Given the description of an element on the screen output the (x, y) to click on. 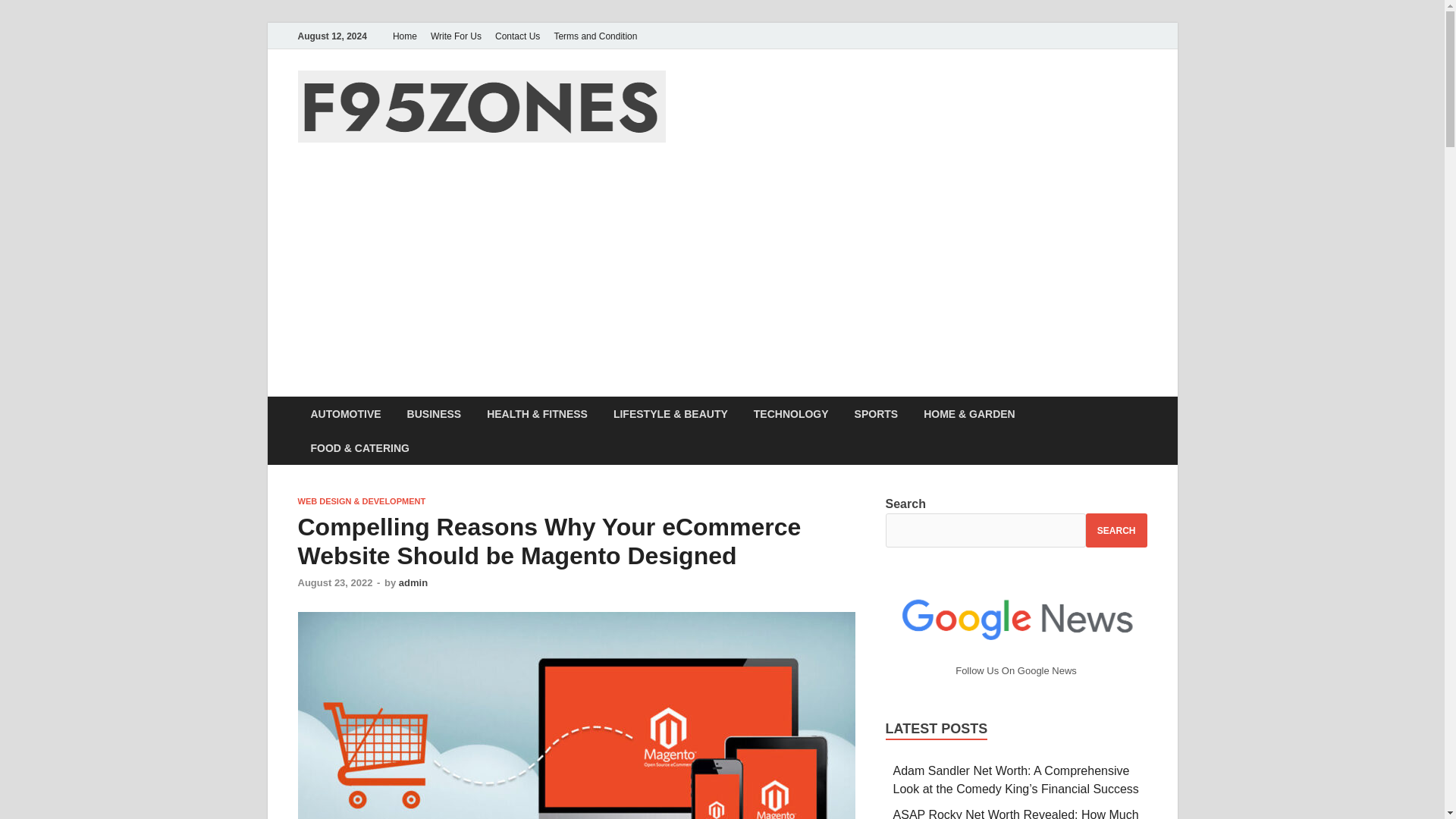
admin (413, 582)
TECHNOLOGY (791, 413)
SPORTS (876, 413)
Contact Us (517, 35)
BUSINESS (434, 413)
Home (404, 35)
Write For Us (455, 35)
August 23, 2022 (334, 582)
AUTOMOTIVE (345, 413)
